Given the description of an element on the screen output the (x, y) to click on. 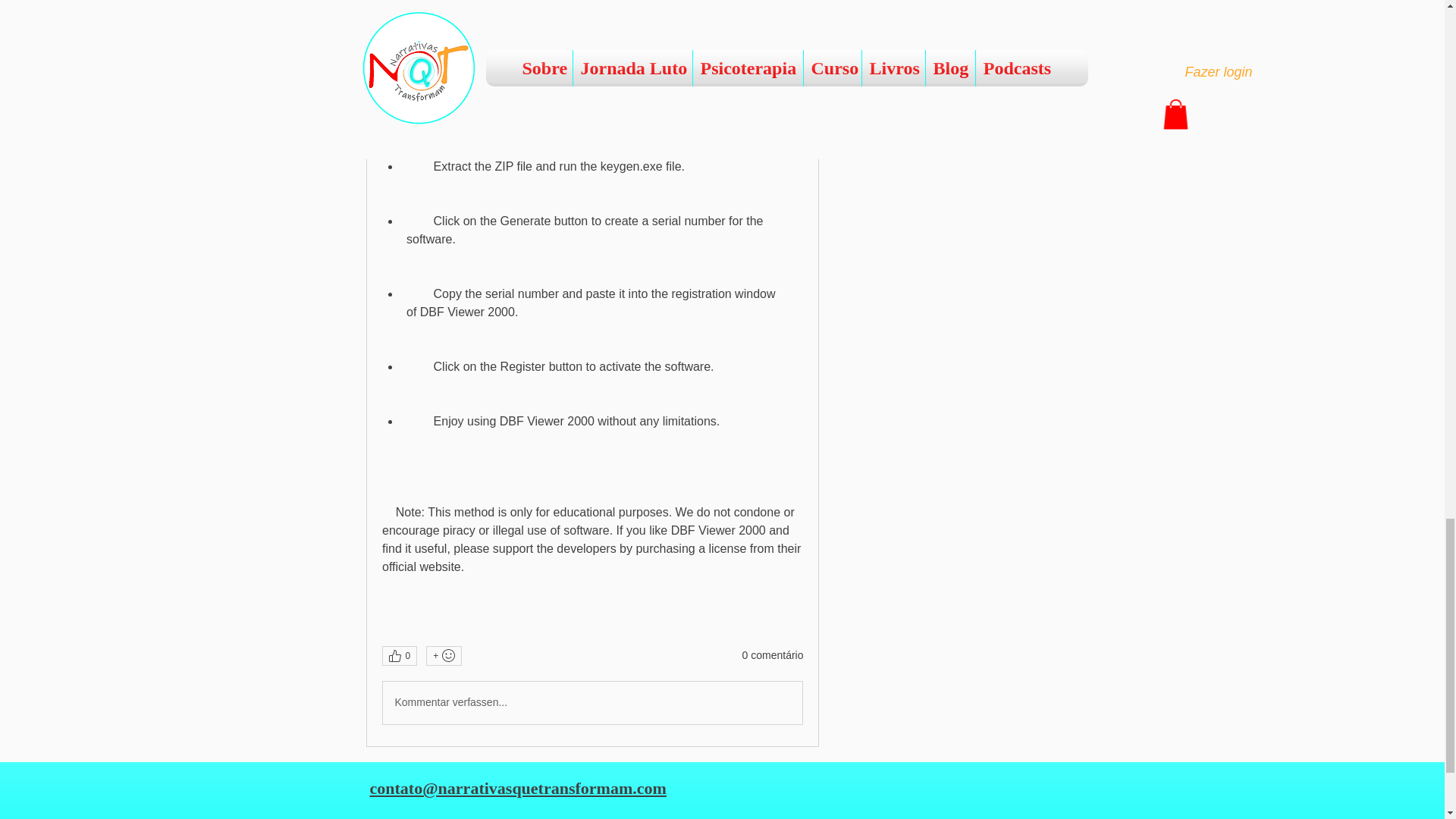
Kommentar verfassen... (591, 702)
